Given the description of an element on the screen output the (x, y) to click on. 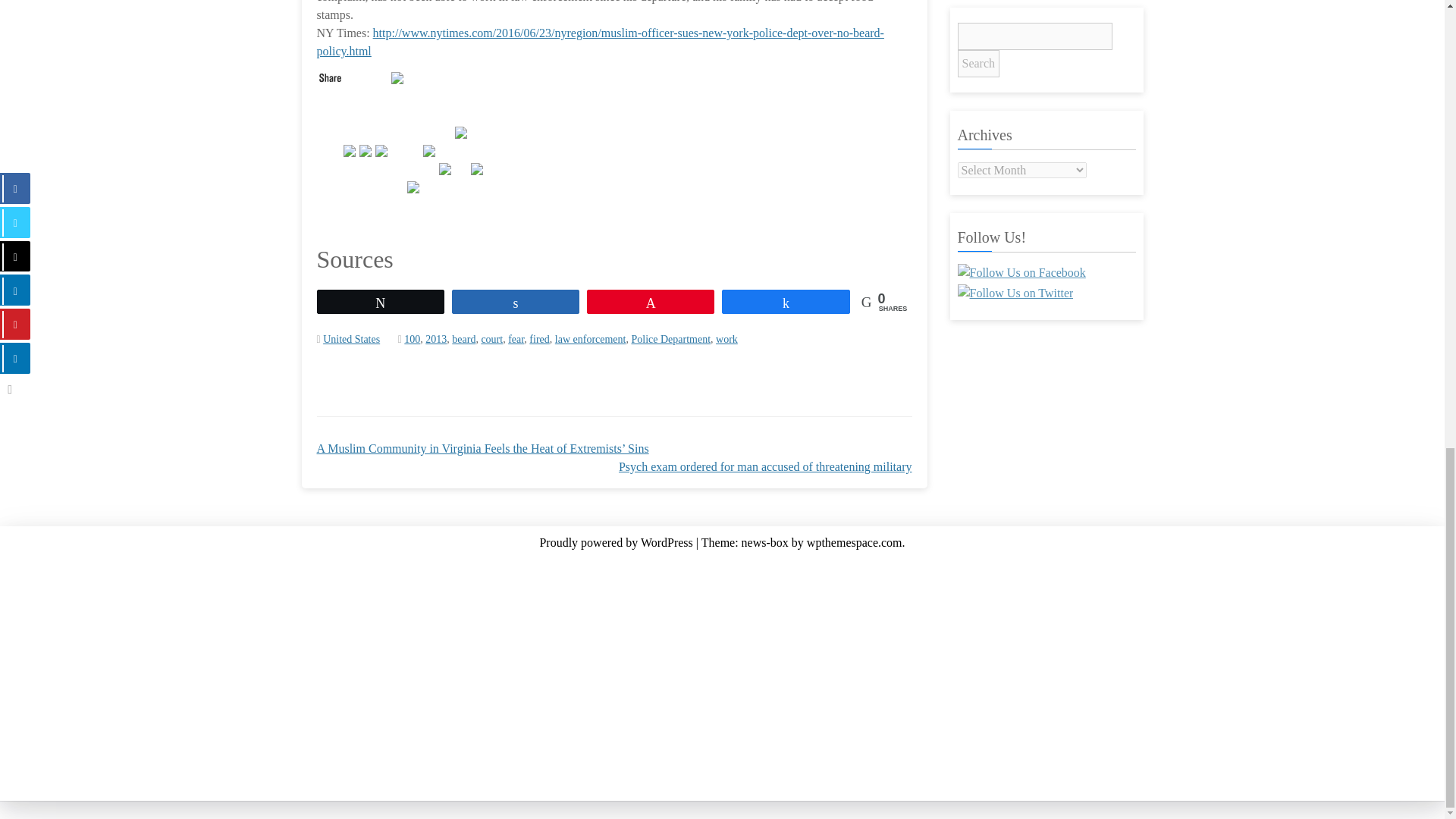
StumbleUpon (399, 75)
Linkedin (382, 148)
Twitter (350, 148)
Facebook (367, 148)
Print (478, 166)
Bebo (446, 166)
Delicious (462, 130)
Digg (414, 185)
Reddit (431, 148)
